Given the description of an element on the screen output the (x, y) to click on. 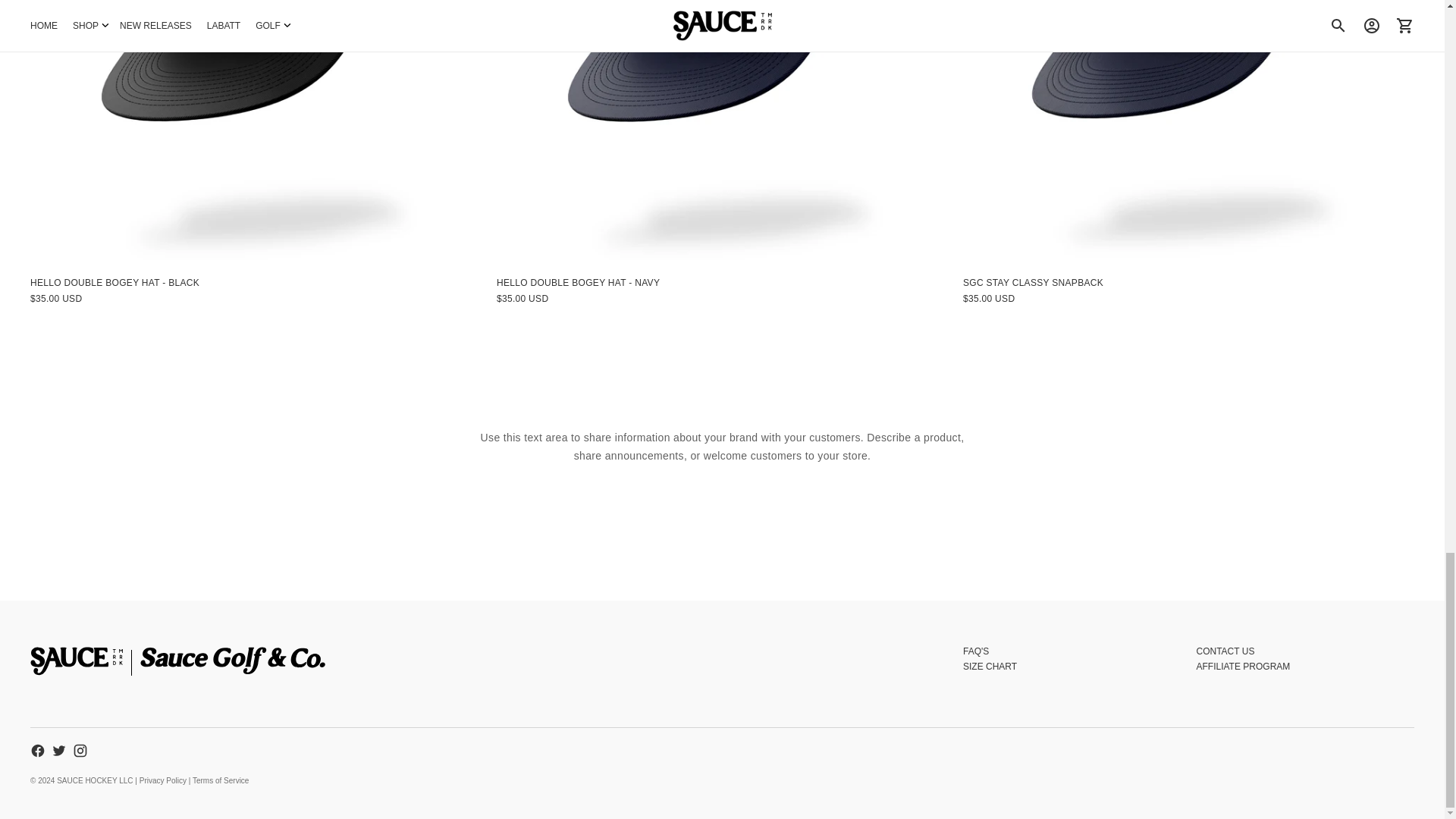
HELLO DOUBLE BOGEY HAT - BLACK (255, 130)
HELLO DOUBLE BOGEY HAT - NAVY (721, 130)
SGC Stay Classy Snapback (1187, 130)
